Given the description of an element on the screen output the (x, y) to click on. 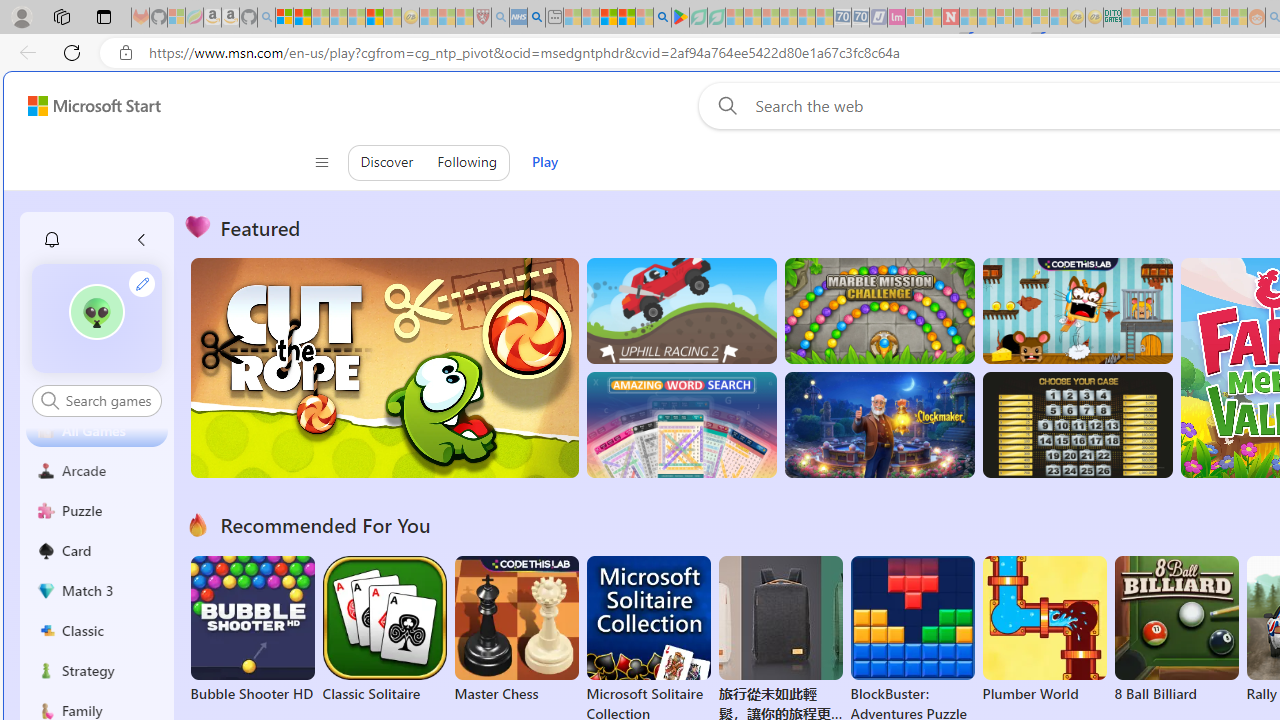
Classic Solitaire (384, 629)
Amazing Word Search (681, 425)
utah sues federal government - Search (536, 17)
Clockmaker (879, 425)
